Given the description of an element on the screen output the (x, y) to click on. 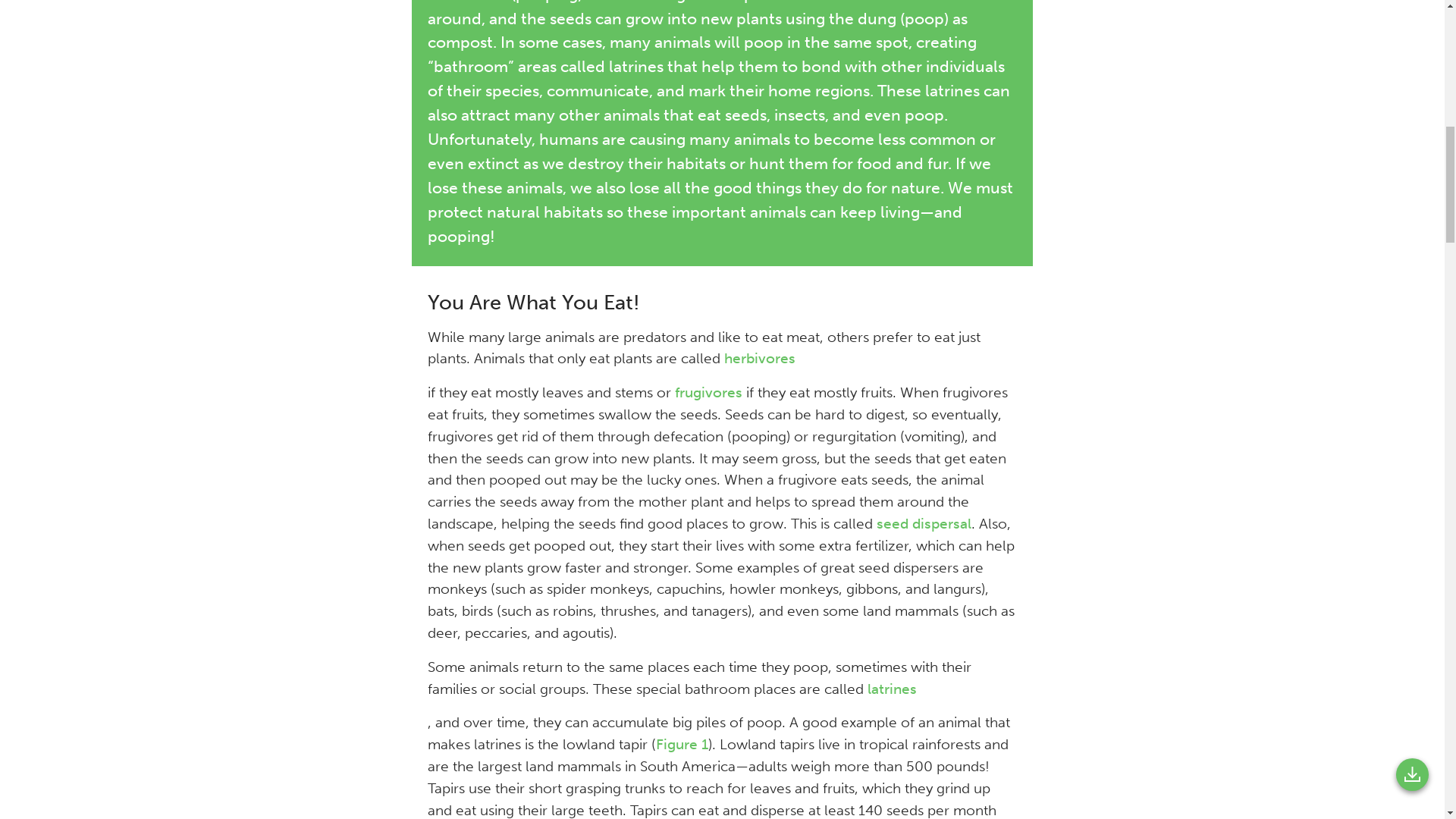
latrines (892, 688)
seed dispersal (923, 523)
frugivores (708, 392)
herbivores (758, 357)
